Given the description of an element on the screen output the (x, y) to click on. 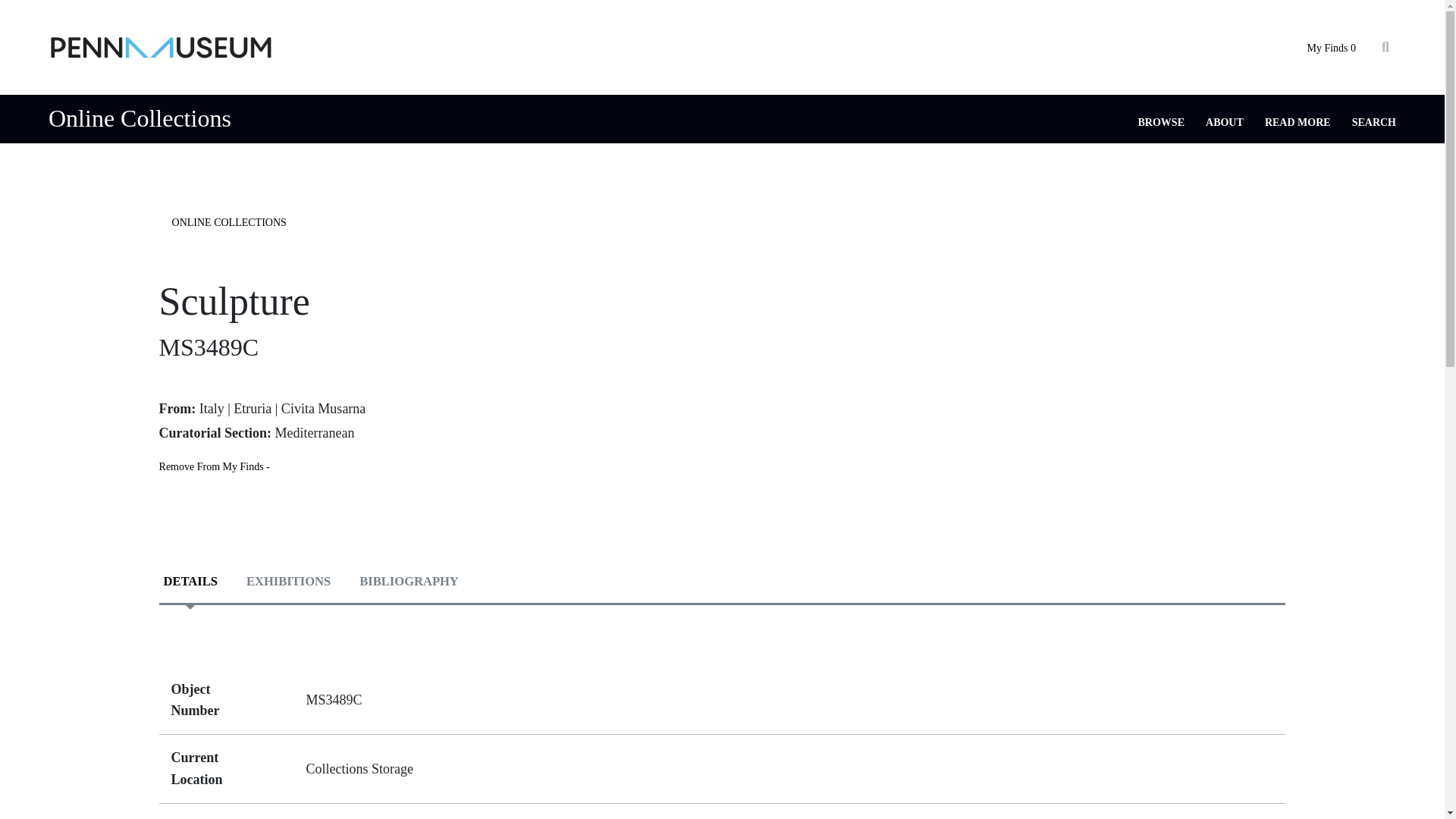
READ MORE (1297, 122)
Online Collections (139, 117)
BROWSE (1161, 122)
My Finds 0 (1330, 48)
SEARCH (1374, 122)
ABOUT (1224, 122)
